Given the description of an element on the screen output the (x, y) to click on. 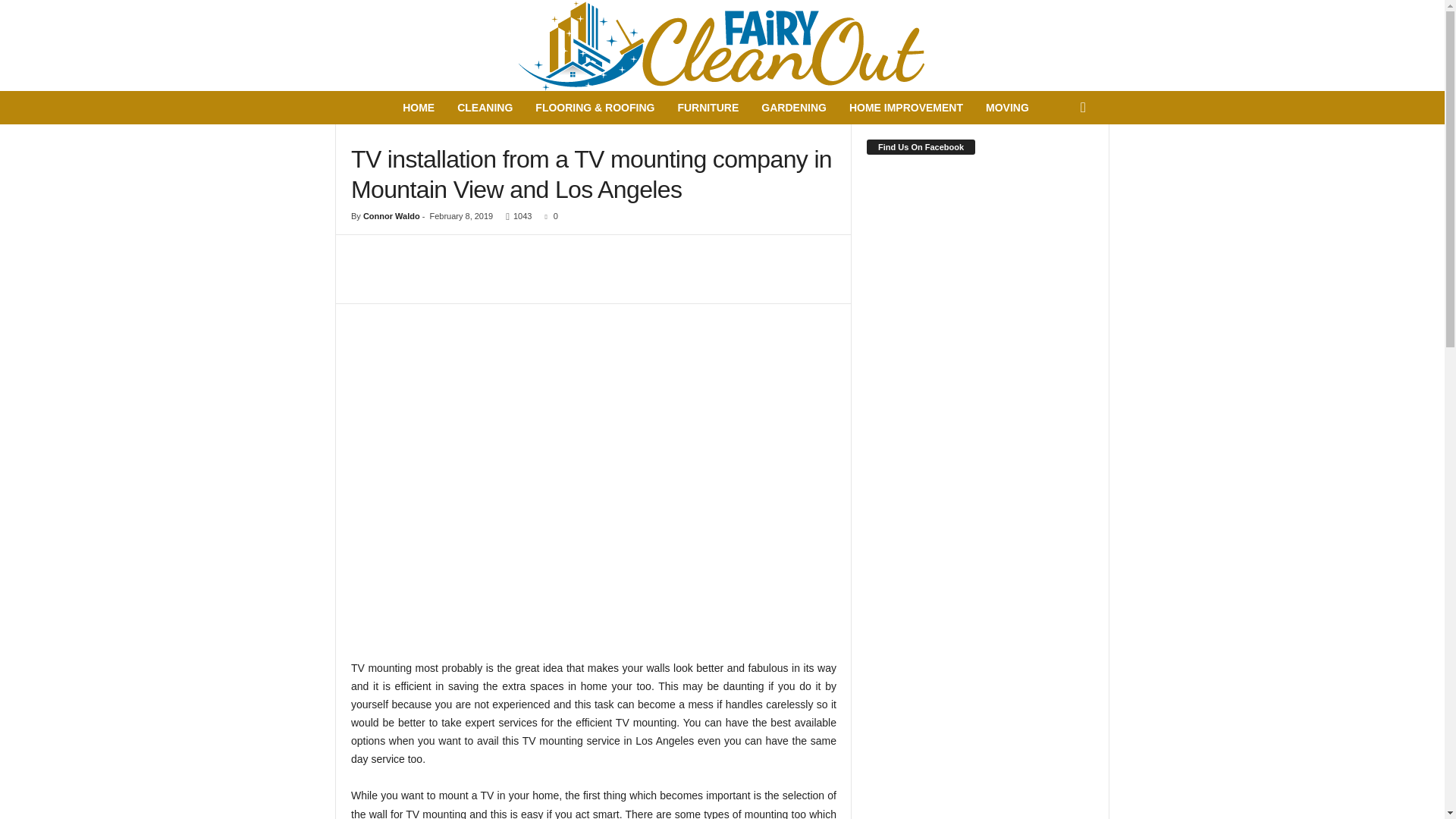
0 (547, 215)
Connor Waldo (391, 215)
CLEANING (484, 107)
FURNITURE (707, 107)
GARDENING (793, 107)
MOVING (1007, 107)
HOME (418, 107)
HOME IMPROVEMENT (906, 107)
